Given the description of an element on the screen output the (x, y) to click on. 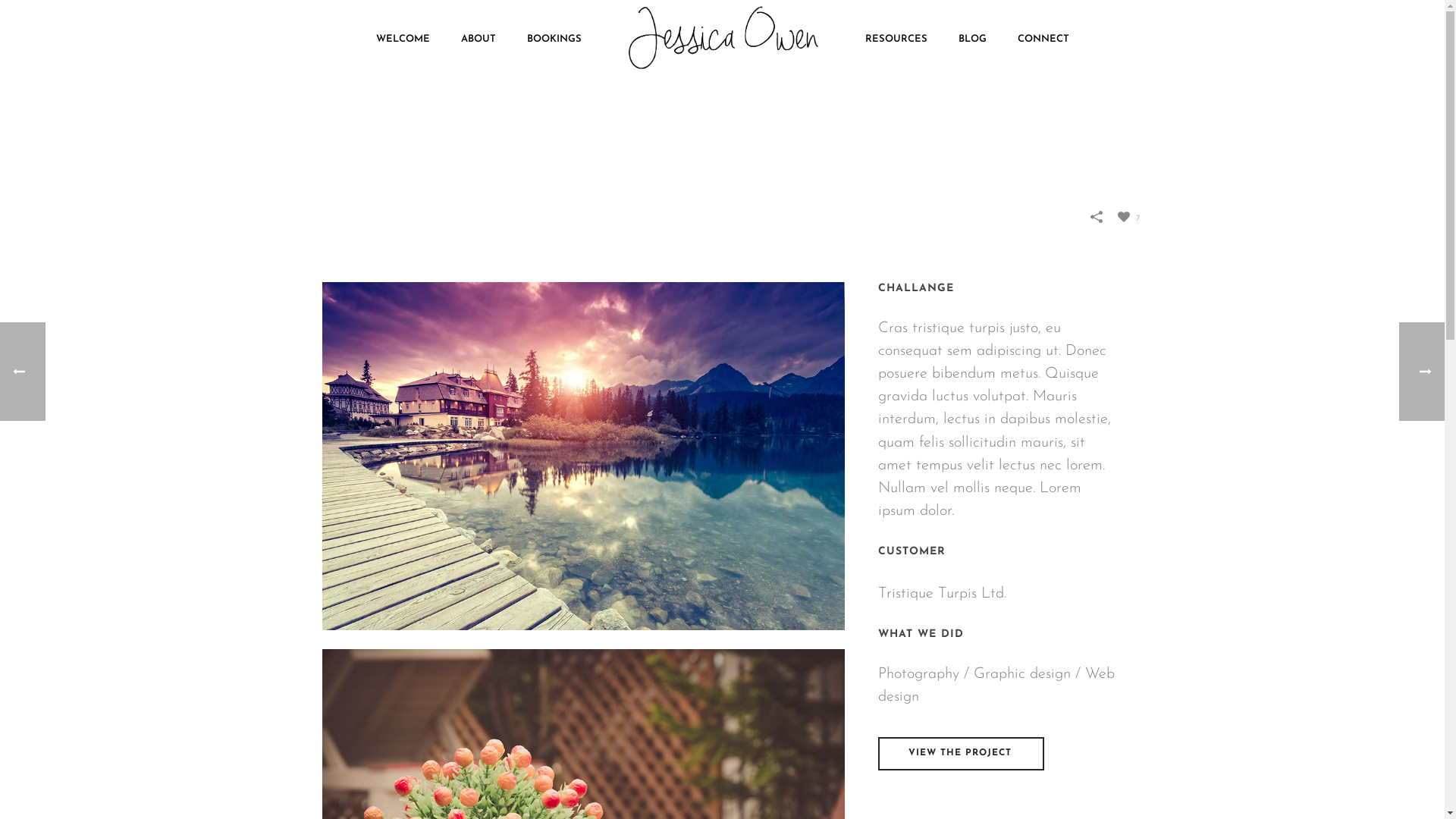
BLOG Element type: text (972, 37)
ARTS Element type: text (1008, 148)
RESOURCES Element type: text (896, 37)
VIEW THE PROJECT Element type: text (961, 753)
DESIGN ANNUAL 2014 Element type: hover (582, 456)
WELCOME Element type: text (402, 37)
HOME Element type: text (974, 148)
BOOKINGS Element type: text (553, 37)
ABOUT Element type: text (478, 37)
Jessica Owen Element type: hover (722, 37)
CONNECT Element type: text (1043, 37)
7 Element type: text (1128, 215)
